Given the description of an element on the screen output the (x, y) to click on. 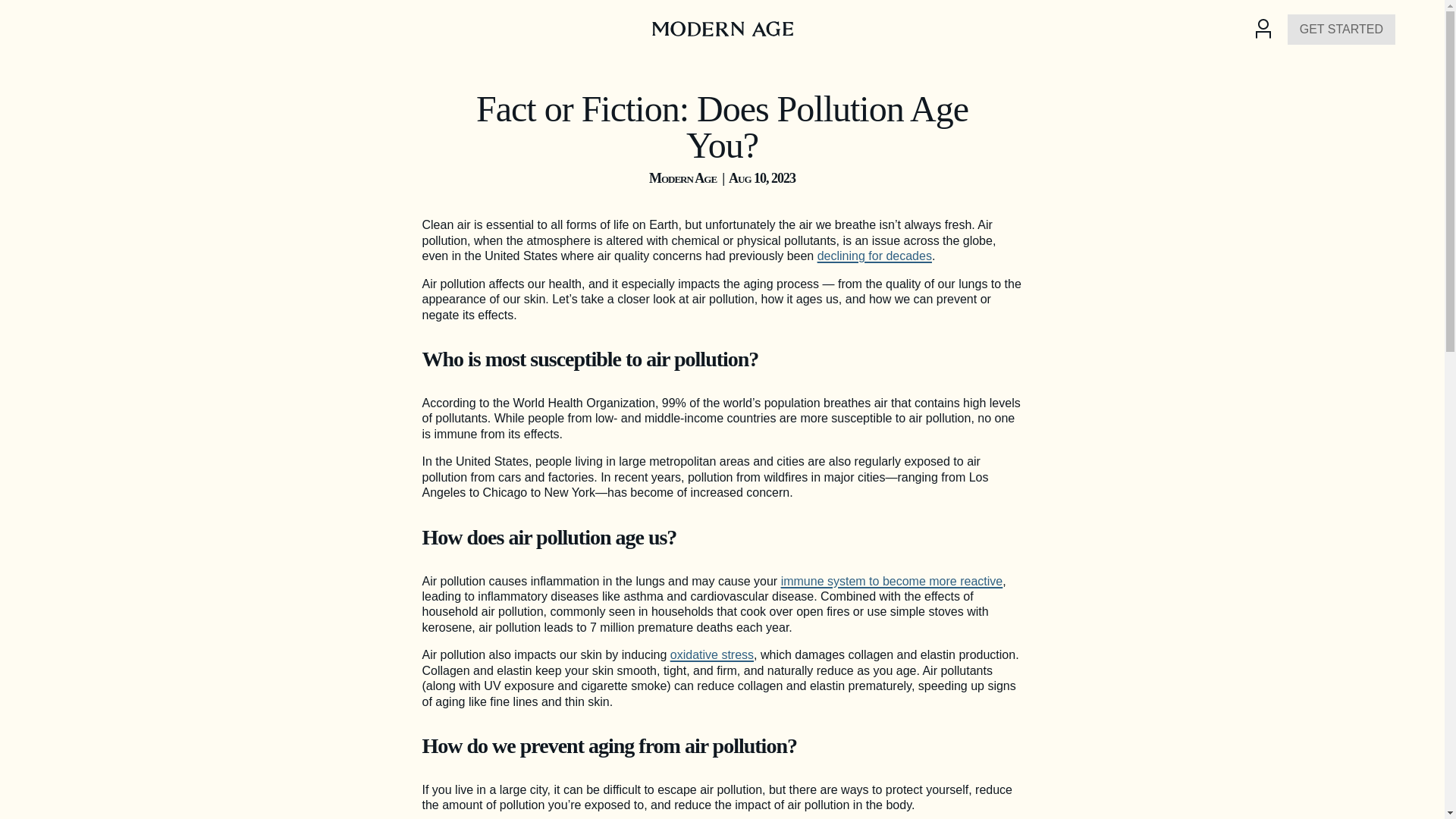
declining for decades (873, 255)
immune system to become more reactive (891, 581)
GET STARTED (1340, 29)
oxidative stress (711, 654)
